Given the description of an element on the screen output the (x, y) to click on. 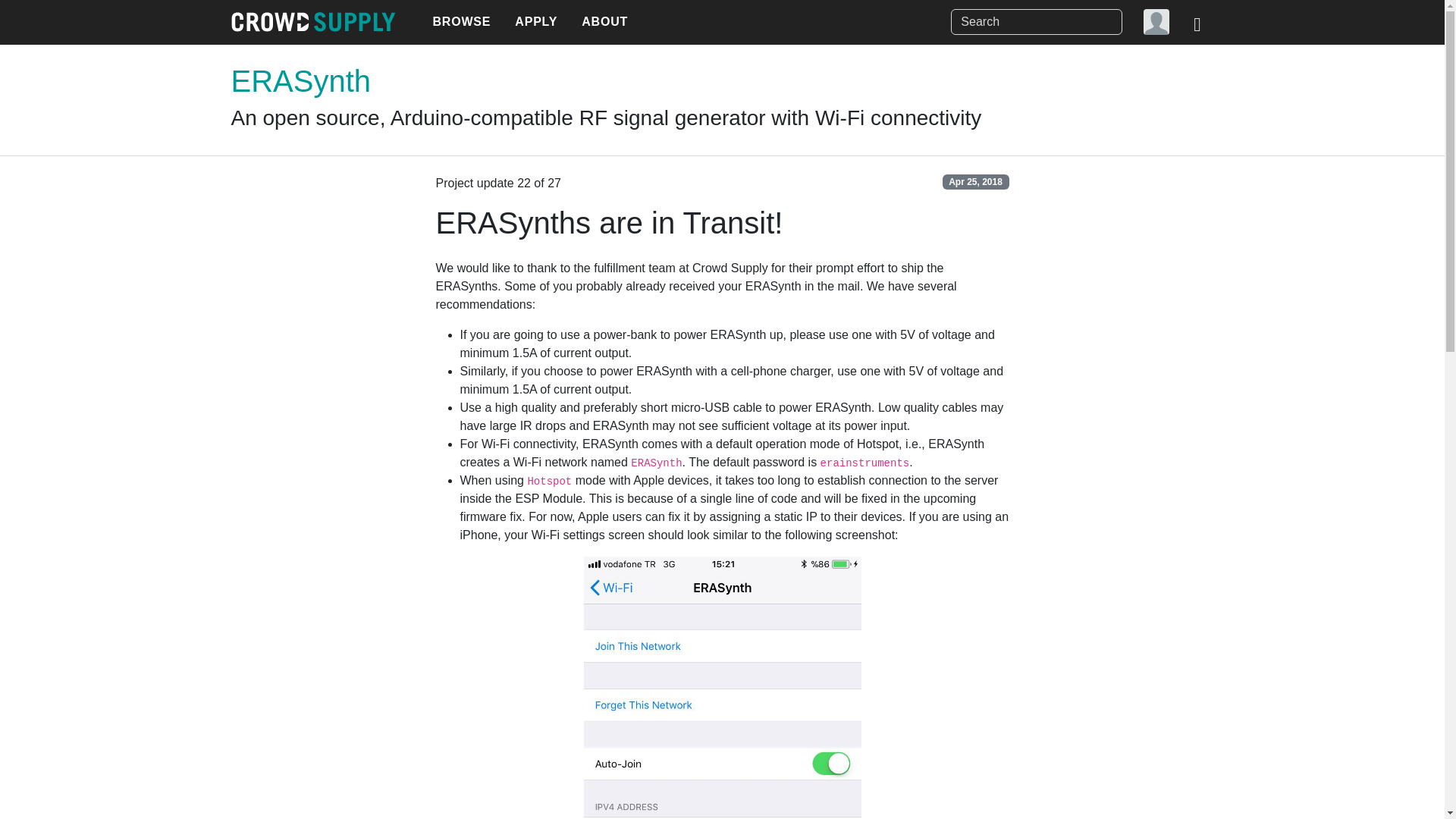
ABOUT (604, 21)
BROWSE (461, 21)
Crowd Supply (312, 22)
ERASynth (300, 80)
APPLY (535, 21)
